Given the description of an element on the screen output the (x, y) to click on. 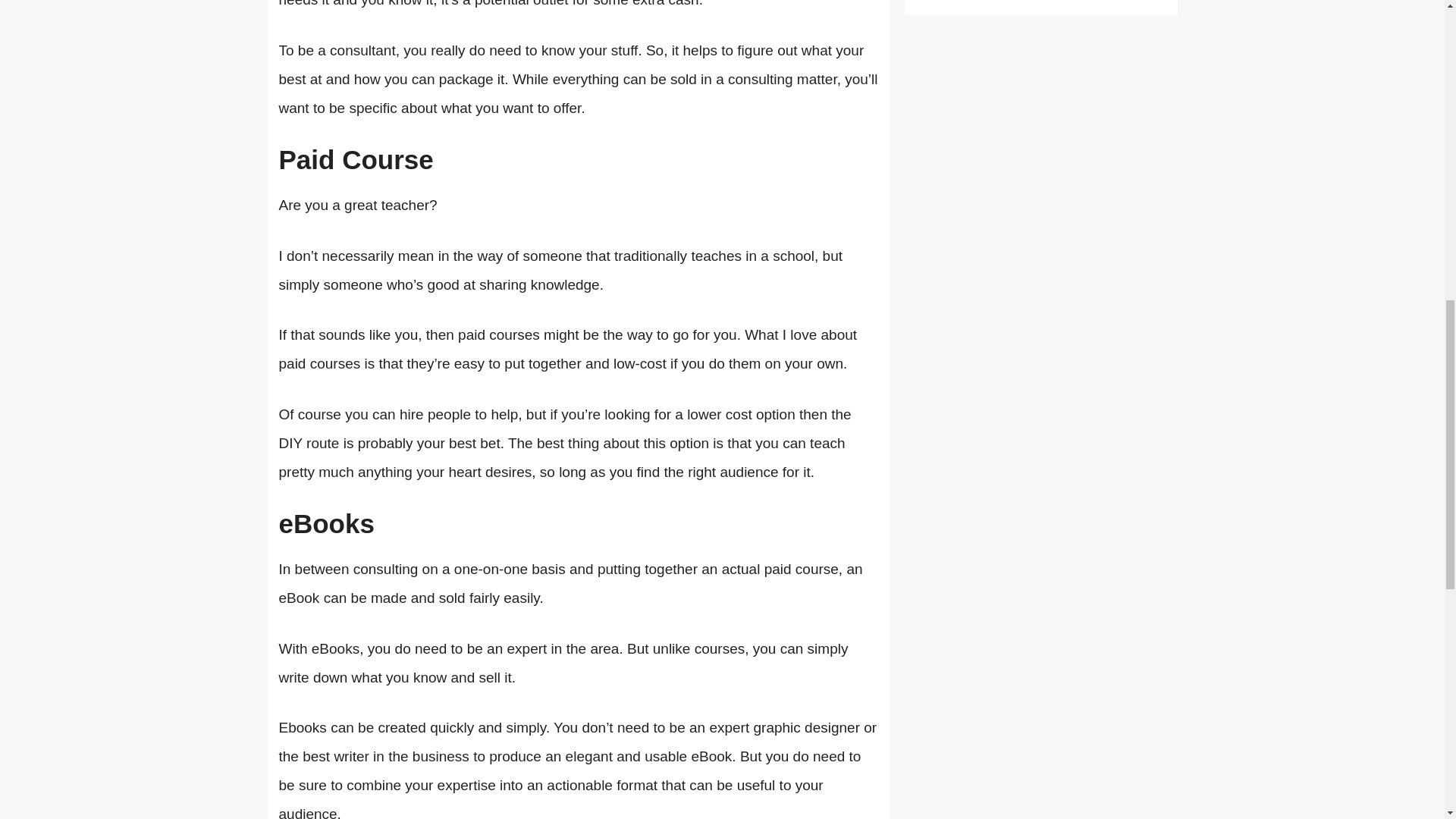
Scroll back to top (1406, 720)
